Given the description of an element on the screen output the (x, y) to click on. 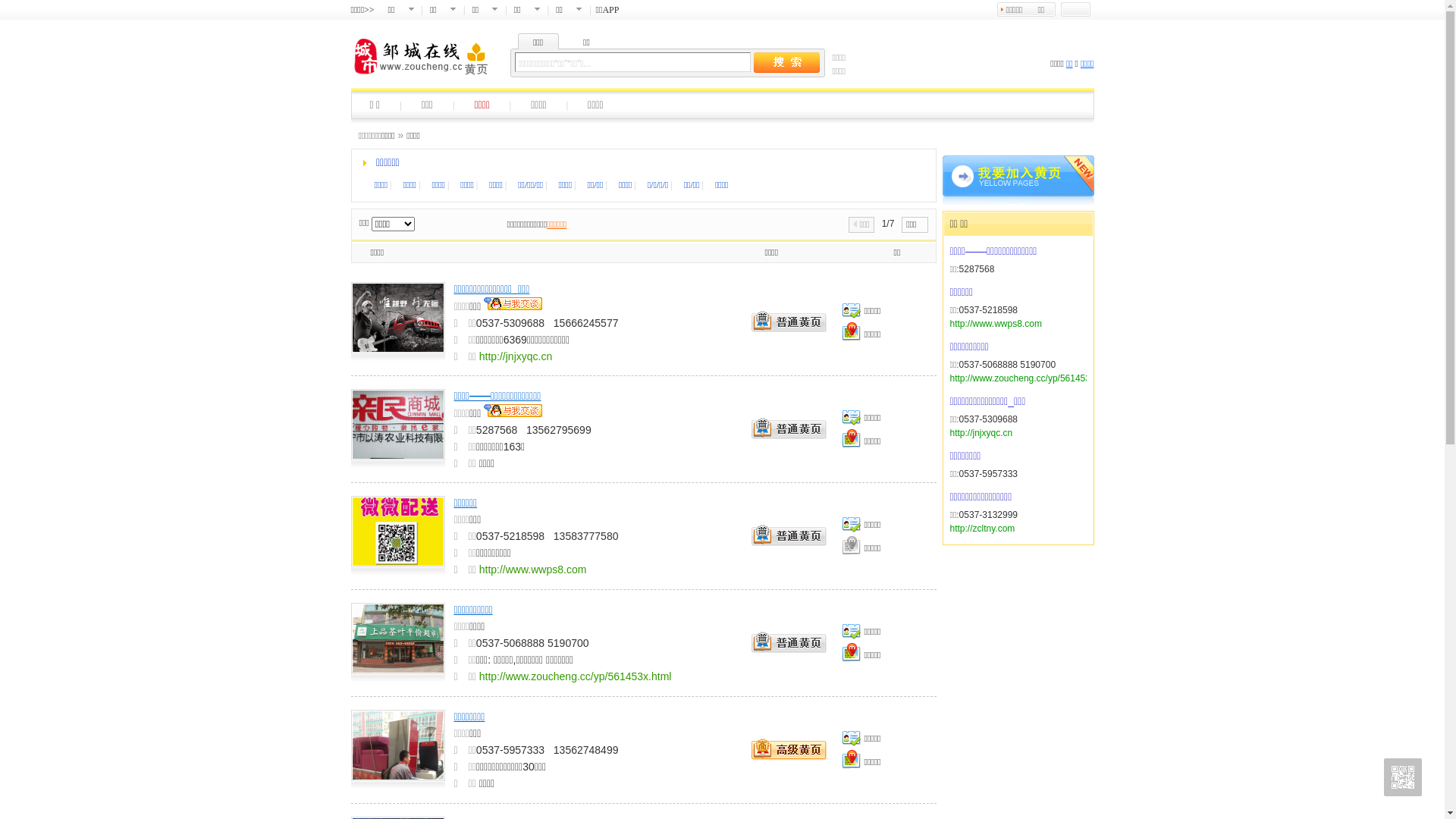
http://www.wwps8.com Element type: text (532, 569)
http://www.wwps8.com Element type: text (995, 323)
http://www.zoucheng.cc/yp/561453x.html Element type: text (575, 676)
http://zcltny.com Element type: text (981, 528)
http://jnjxyqc.cn Element type: text (515, 356)
http://www.zoucheng.cc/yp/561453x.html Element type: text (1031, 378)
http://jnjxyqc.cn Element type: text (980, 432)
